Given the description of an element on the screen output the (x, y) to click on. 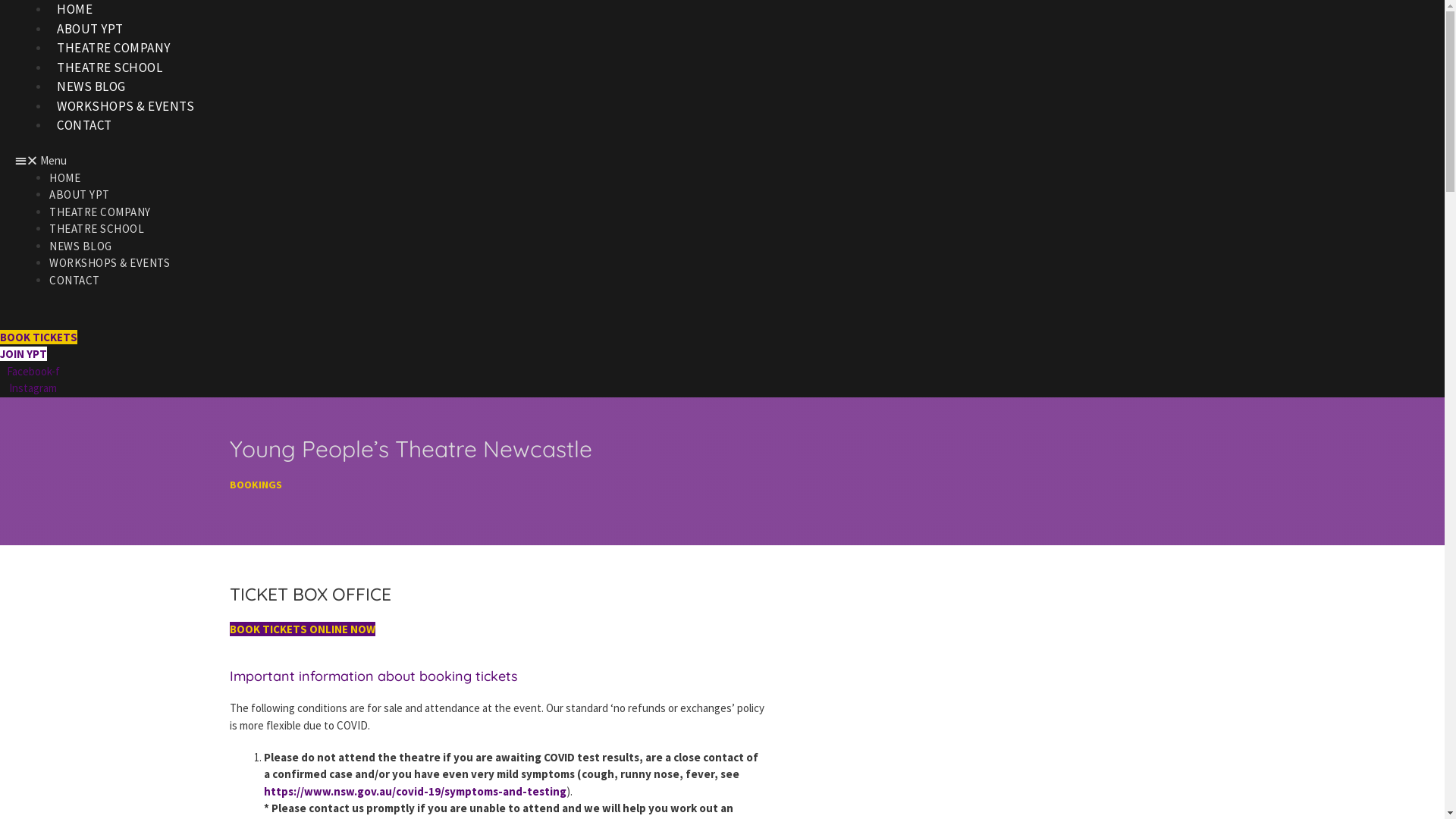
ABOUT YPT Element type: text (90, 28)
THEATRE SCHOOL Element type: text (96, 228)
NEWS BLOG Element type: text (80, 245)
NEWS BLOG Element type: text (91, 86)
THEATRE SCHOOL Element type: text (109, 66)
ABOUT YPT Element type: text (79, 194)
WORKSHOPS & EVENTS Element type: text (109, 262)
THEATRE COMPANY Element type: text (99, 211)
BOOK TICKETS ONLINE NOW Element type: text (301, 628)
CONTACT Element type: text (84, 124)
CONTACT Element type: text (74, 280)
Facebook-f Element type: text (32, 371)
Instagram Element type: text (32, 387)
WORKSHOPS & EVENTS Element type: text (125, 105)
THEATRE COMPANY Element type: text (113, 47)
JOIN YPT Element type: text (23, 353)
HOME Element type: text (64, 176)
https://www.nsw.gov.au/covid-19/symptoms-and-testing Element type: text (414, 791)
BOOK TICKETS Element type: text (38, 336)
